Given the description of an element on the screen output the (x, y) to click on. 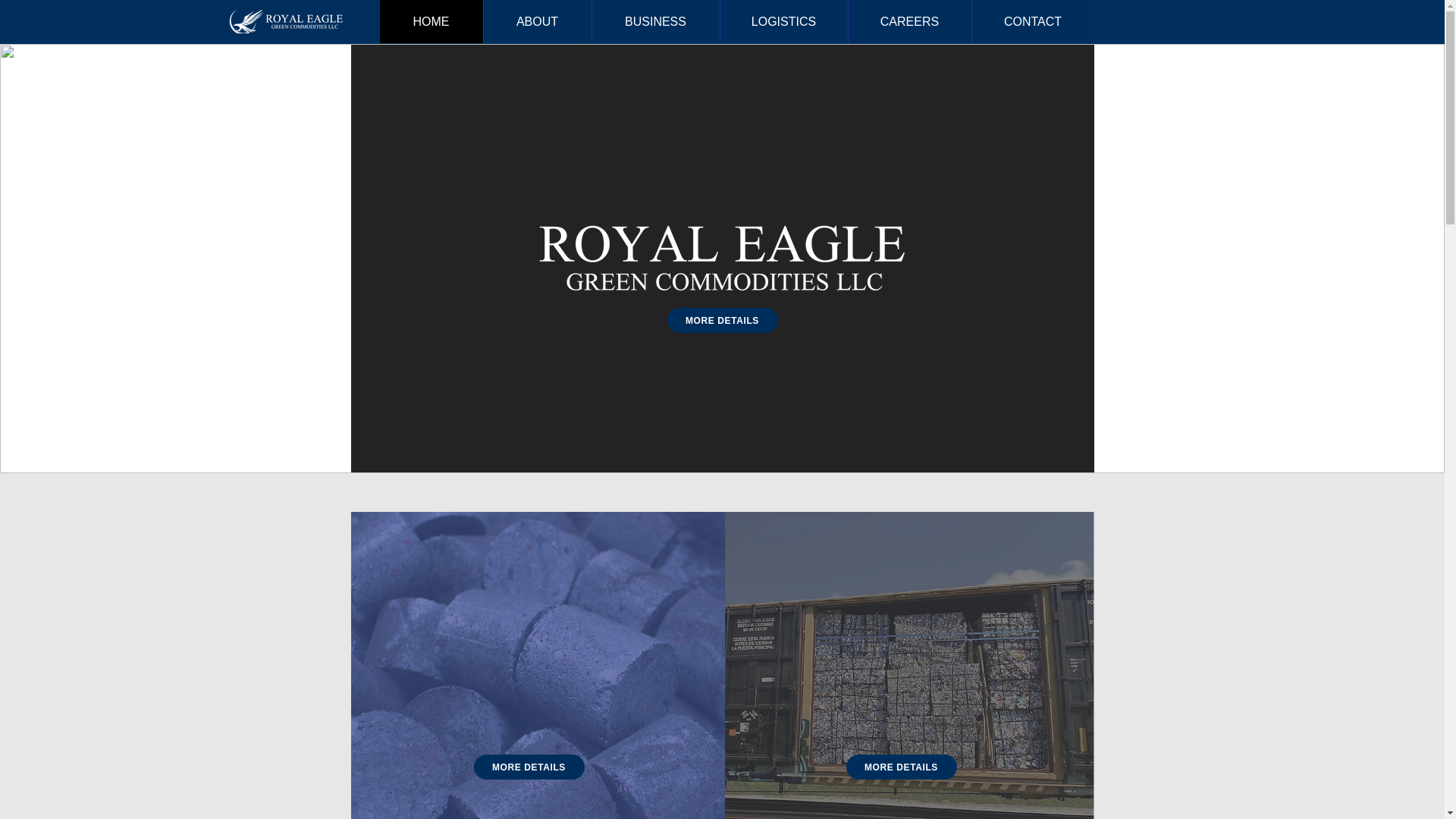
BUSINESS (655, 21)
CONTACT (1032, 21)
LOGISTICS (783, 21)
HOME (429, 21)
MORE DETAILS (721, 319)
MORE DETAILS (900, 766)
CAREERS (909, 21)
ABOUT (536, 21)
MORE DETAILS (528, 766)
